Given the description of an element on the screen output the (x, y) to click on. 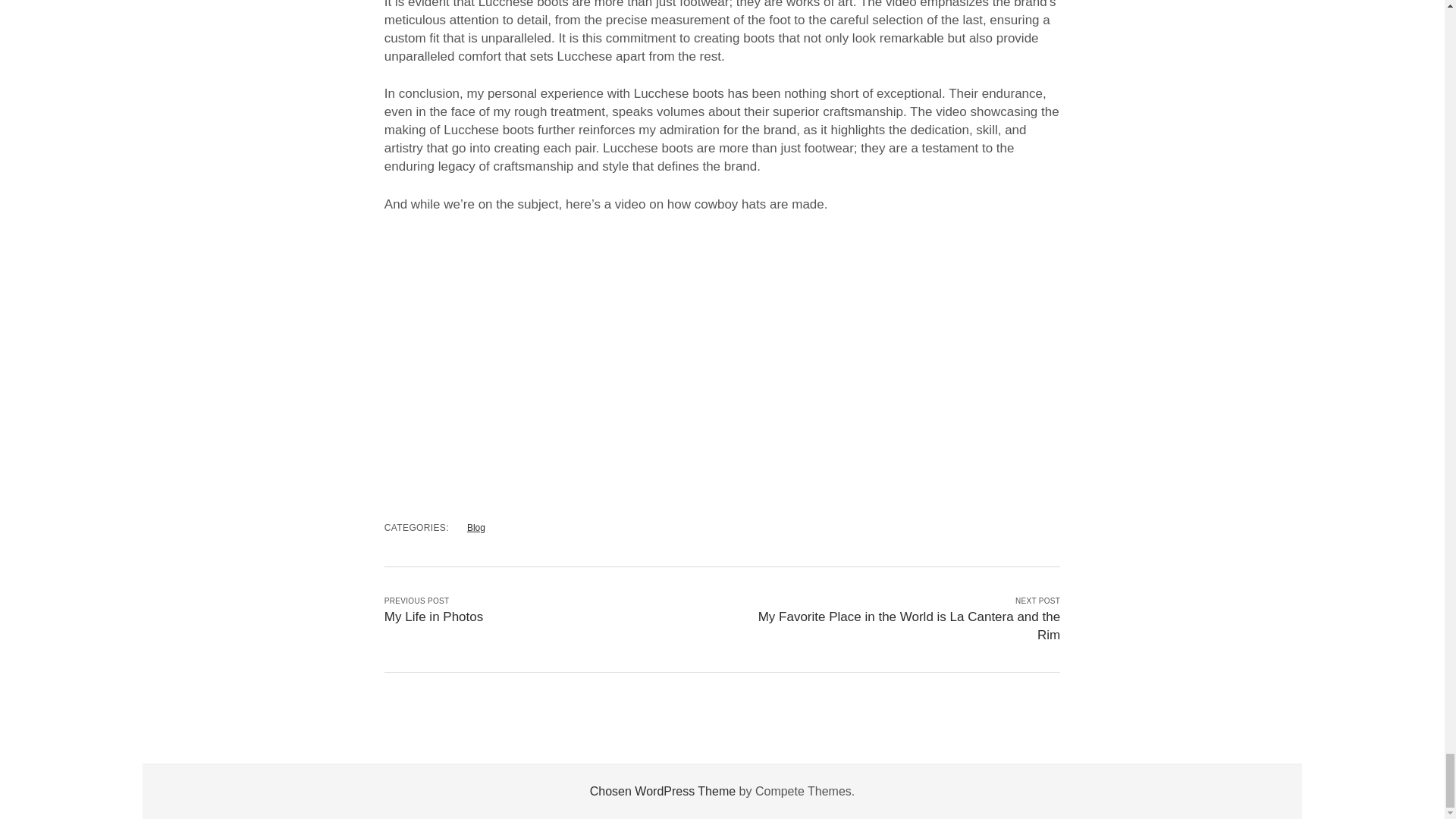
View all posts in Blog (475, 527)
Blog (475, 527)
Chosen WordPress Theme (662, 790)
My Life in Photos (433, 616)
My Favorite Place in the World is La Cantera and the Rim (908, 625)
